Given the description of an element on the screen output the (x, y) to click on. 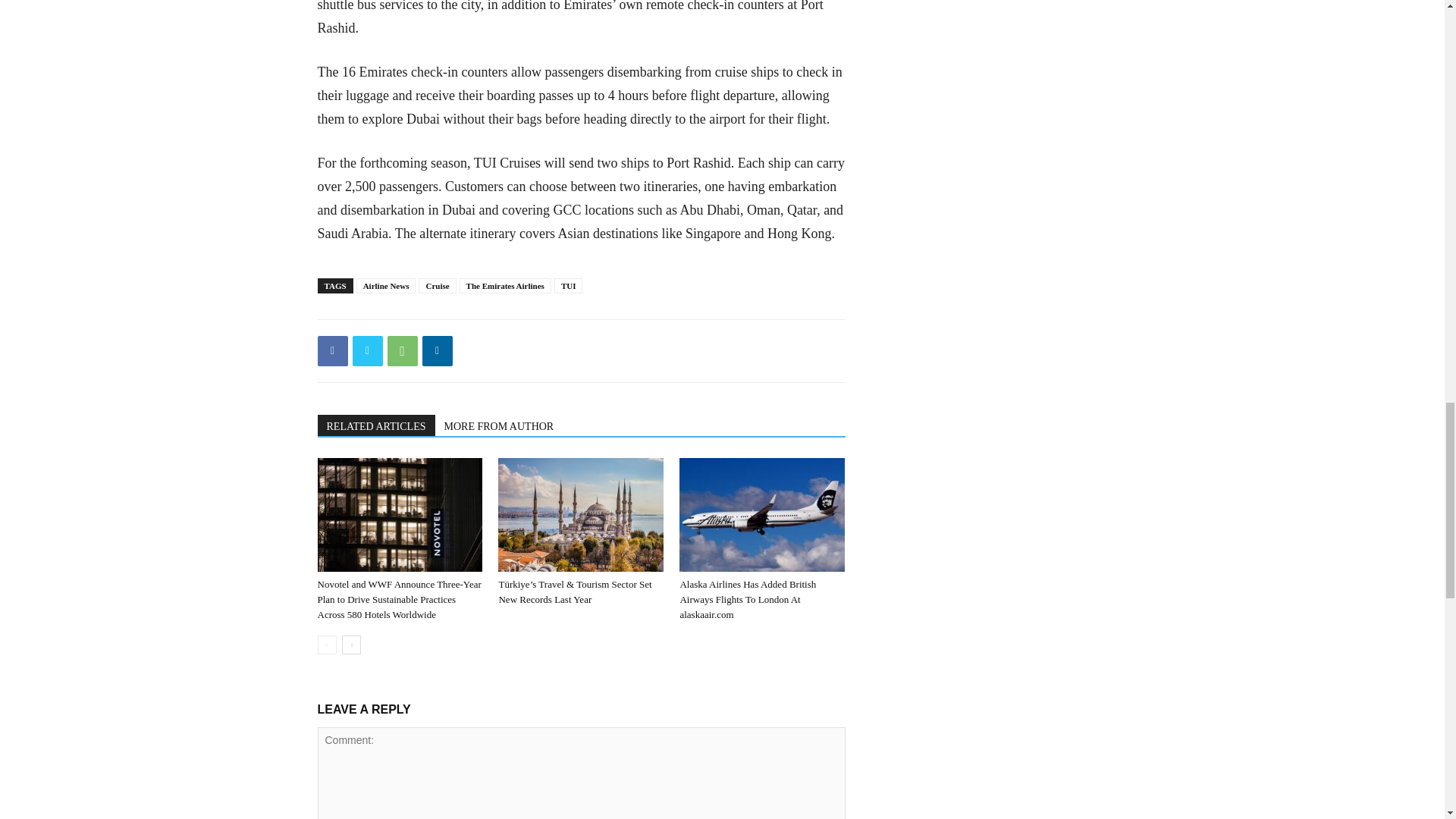
TUI (568, 285)
The Emirates Airlines (505, 285)
Cruise (437, 285)
Facebook (332, 350)
Twitter (366, 350)
Airline News (386, 285)
